Given the description of an element on the screen output the (x, y) to click on. 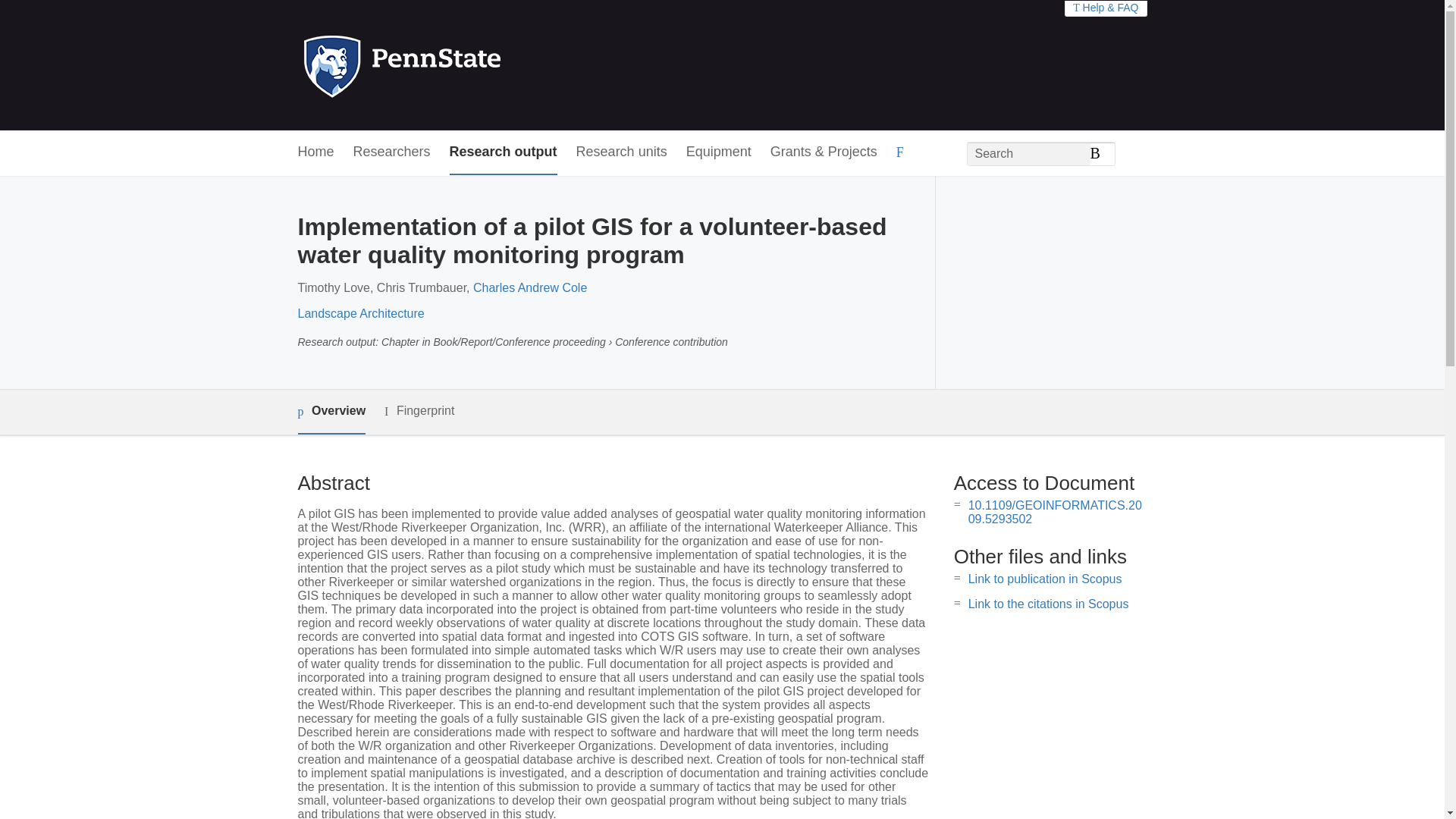
Equipment (718, 152)
Charles Andrew Cole (529, 287)
Link to the citations in Scopus (1048, 603)
Penn State Home (467, 65)
Researchers (391, 152)
Research output (503, 152)
Landscape Architecture (360, 313)
Fingerprint (419, 411)
Overview (331, 411)
Link to publication in Scopus (1045, 578)
Research units (621, 152)
